Given the description of an element on the screen output the (x, y) to click on. 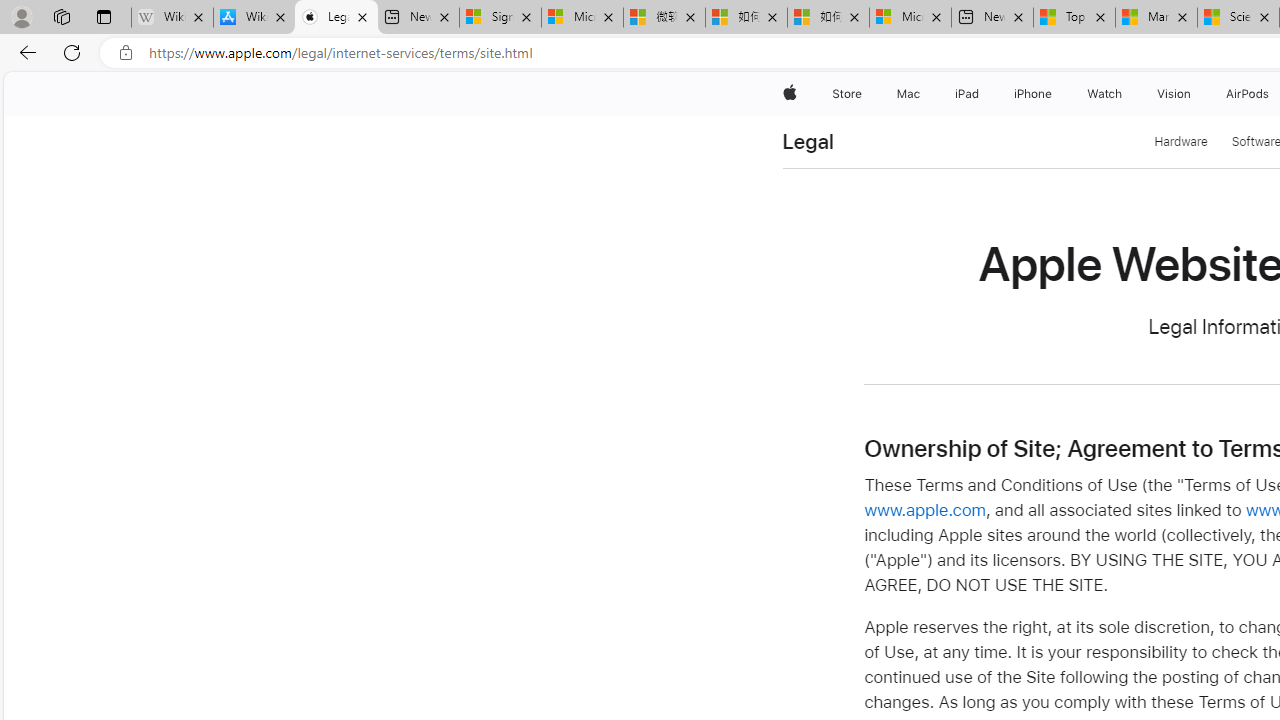
Store menu (864, 93)
